Given the description of an element on the screen output the (x, y) to click on. 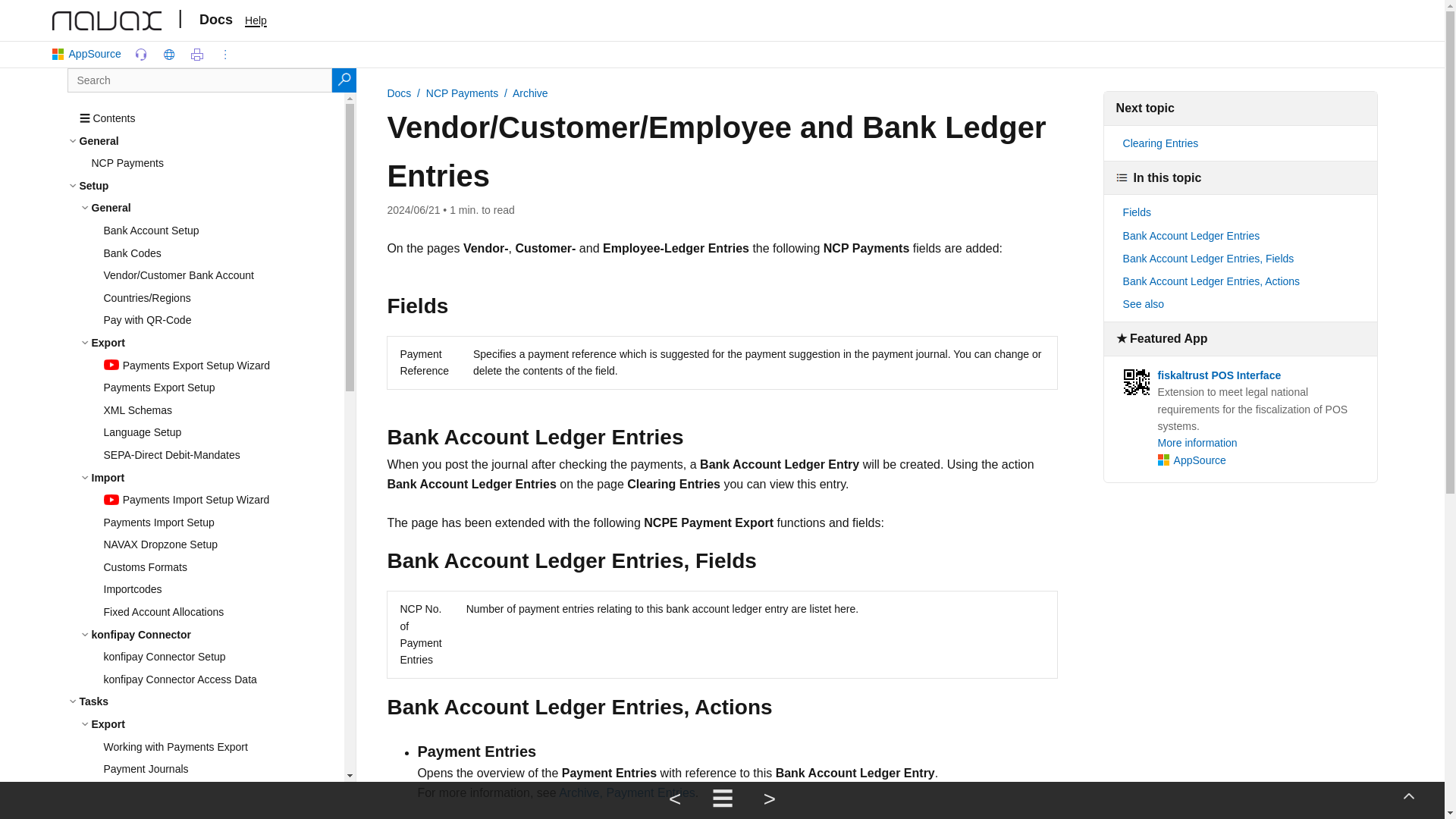
Fixed Account Allocations (223, 612)
Payments Export Setup Wizard (223, 365)
Importcodes (223, 589)
  AppSource   (88, 54)
Payments Import Setup Wizard (223, 500)
Bank Account Setup (223, 230)
Read in German (169, 54)
Previous topic (675, 800)
SEPA-Direct Debit-Mandates (223, 455)
konfipay Connector Setup (223, 657)
Payments Export Setup (223, 388)
NAVAX Dropzone Setup (223, 545)
Payments Import Setup (223, 523)
Language Setup (223, 433)
XML Schemas (223, 410)
